Given the description of an element on the screen output the (x, y) to click on. 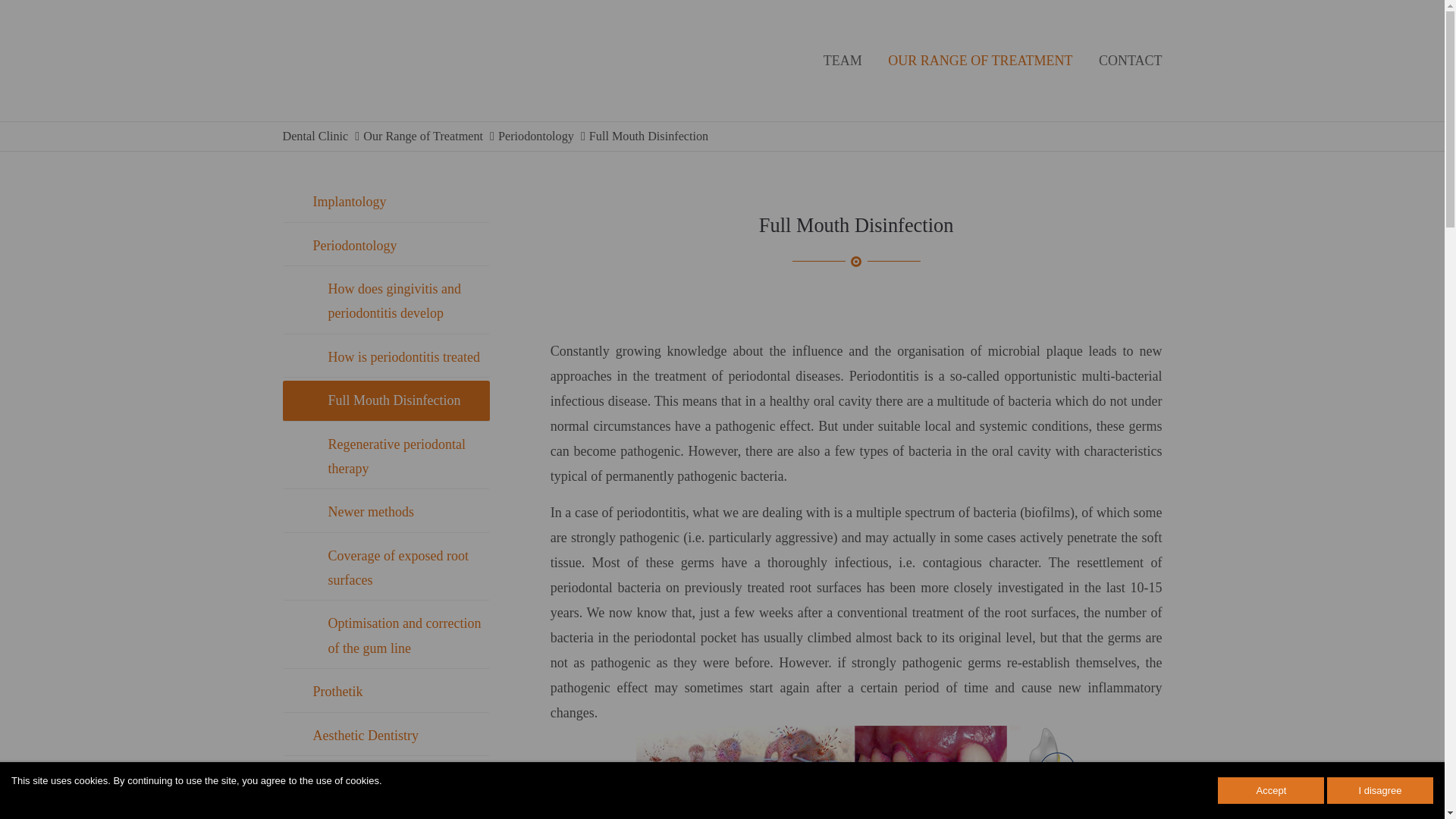
Neue Methoden (385, 512)
How is periodontitis treated (385, 357)
Aesthetic Dentistry (385, 735)
Newer methods (385, 512)
Implantology (385, 201)
Full Mouth Disinfection (385, 400)
Full Mouth Disinfection (648, 136)
Periodontology (385, 246)
I disagree (1379, 790)
How is periodontitis treated (385, 357)
Dental Clinic (314, 136)
How does gingivitis and periodontitis develop? (385, 301)
Periodontology (385, 246)
Accept (1270, 790)
Coverage of exposed root surfaces (385, 568)
